Given the description of an element on the screen output the (x, y) to click on. 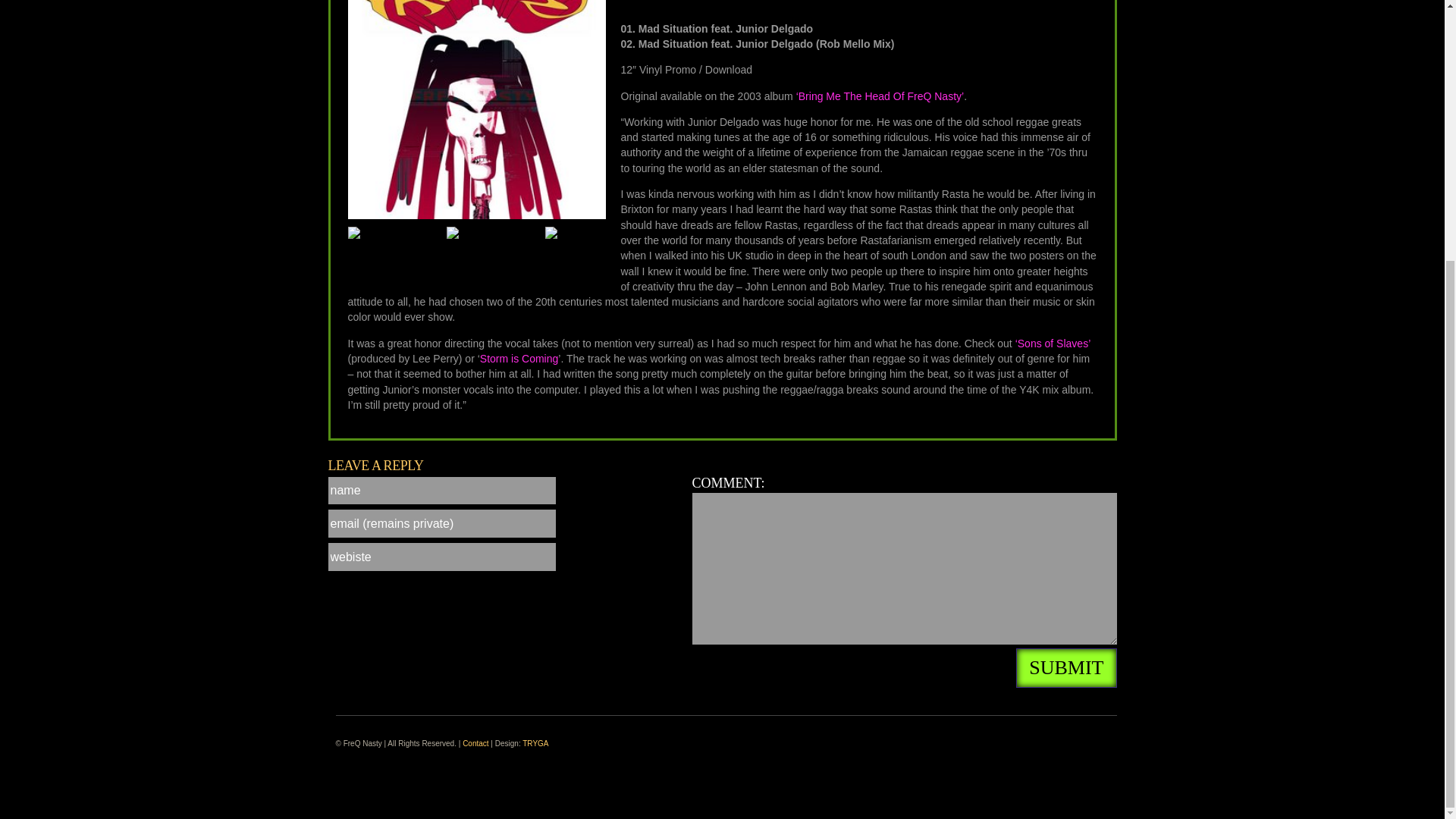
Submit (1066, 667)
Storm is Coming (518, 358)
Contact (475, 743)
Submit (1066, 667)
name (440, 490)
TRYGA (535, 743)
TRYGA (535, 743)
webiste (440, 556)
